Given the description of an element on the screen output the (x, y) to click on. 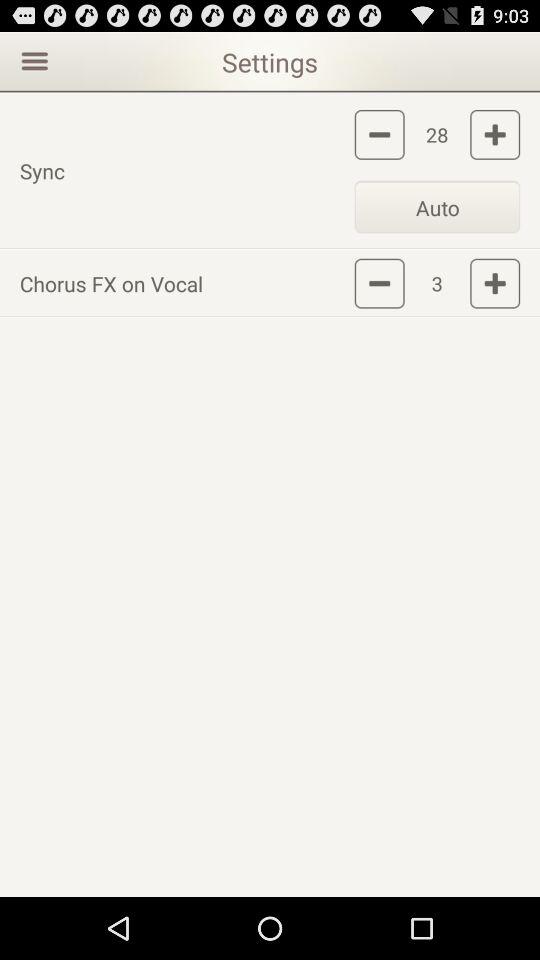
decrease intensity (379, 283)
